Given the description of an element on the screen output the (x, y) to click on. 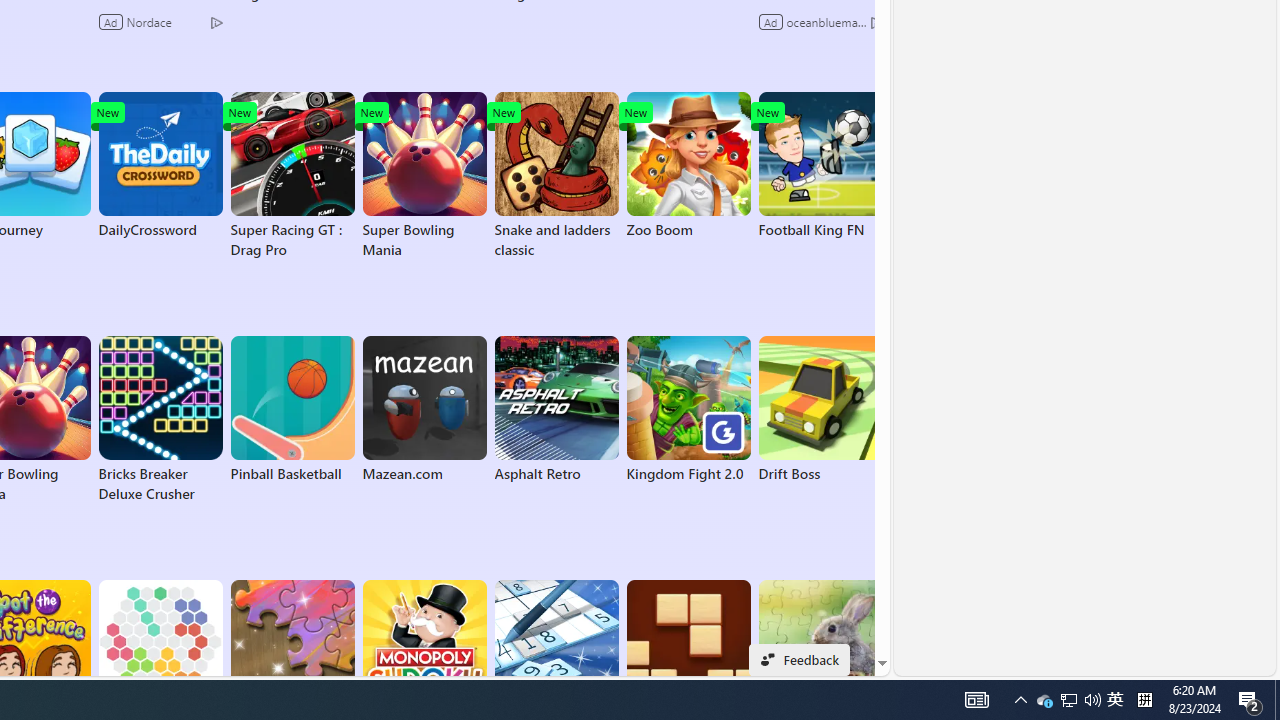
DailyCrossword (160, 165)
Super Bowling Mania (424, 175)
Pinball Basketball (292, 409)
Class: ad-choice  ad-choice-mono  (876, 21)
Kingdom Fight 2.0 (688, 409)
Mazean.com (424, 409)
Super Racing GT : Drag Pro (292, 175)
Football King FN (820, 165)
Asphalt Retro (556, 409)
Bricks Breaker Deluxe Crusher (160, 419)
Drift Boss (820, 409)
Zoo Boom (688, 165)
